Given the description of an element on the screen output the (x, y) to click on. 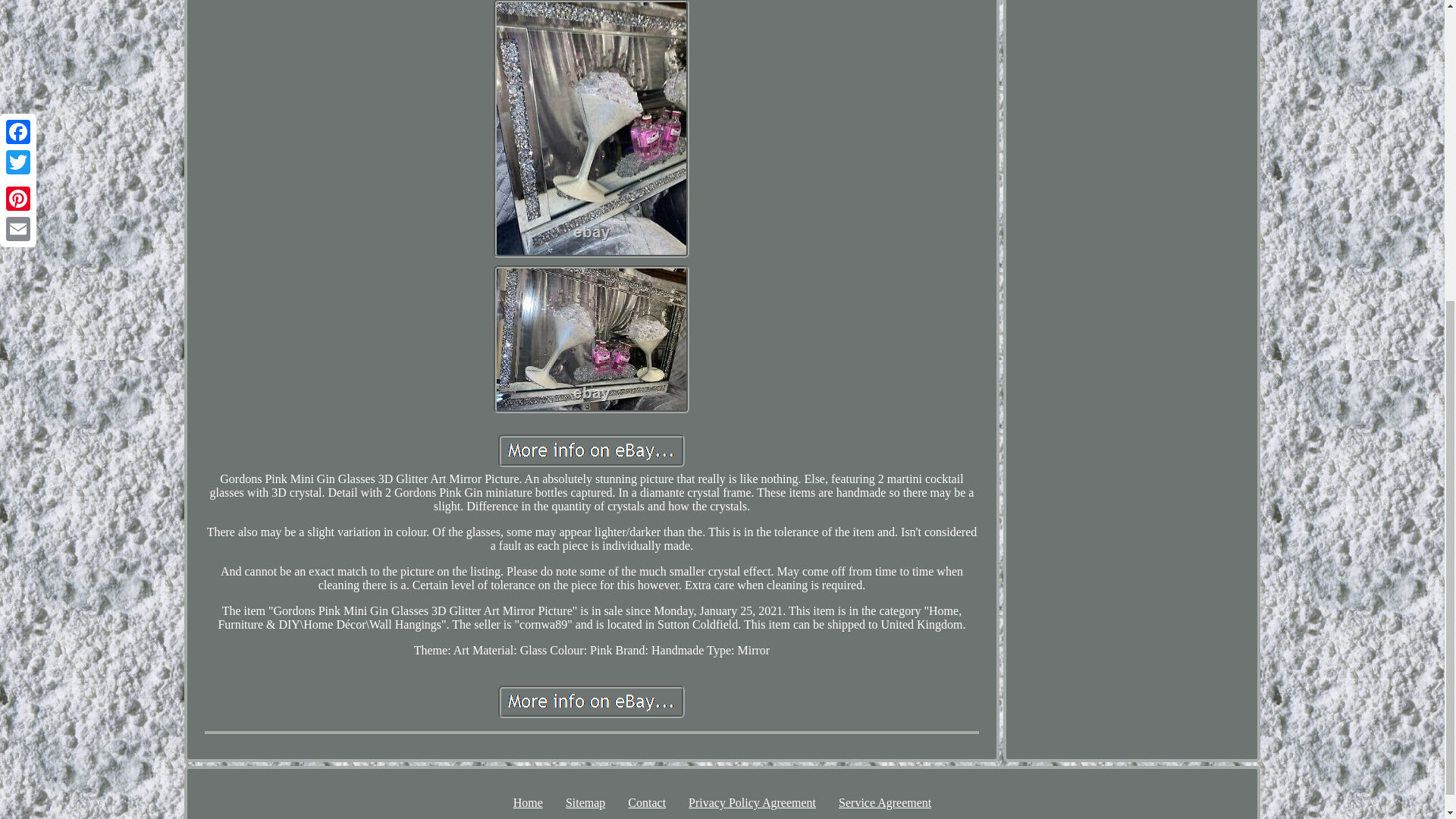
Gordons Pink Mini Gin Glasses 3D Glitter Art Mirror Picture (590, 450)
Gordons Pink Mini Gin Glasses 3D Glitter Art Mirror Picture (590, 701)
Gordons Pink Mini Gin Glasses 3D Glitter Art Mirror Picture (590, 339)
